Given the description of an element on the screen output the (x, y) to click on. 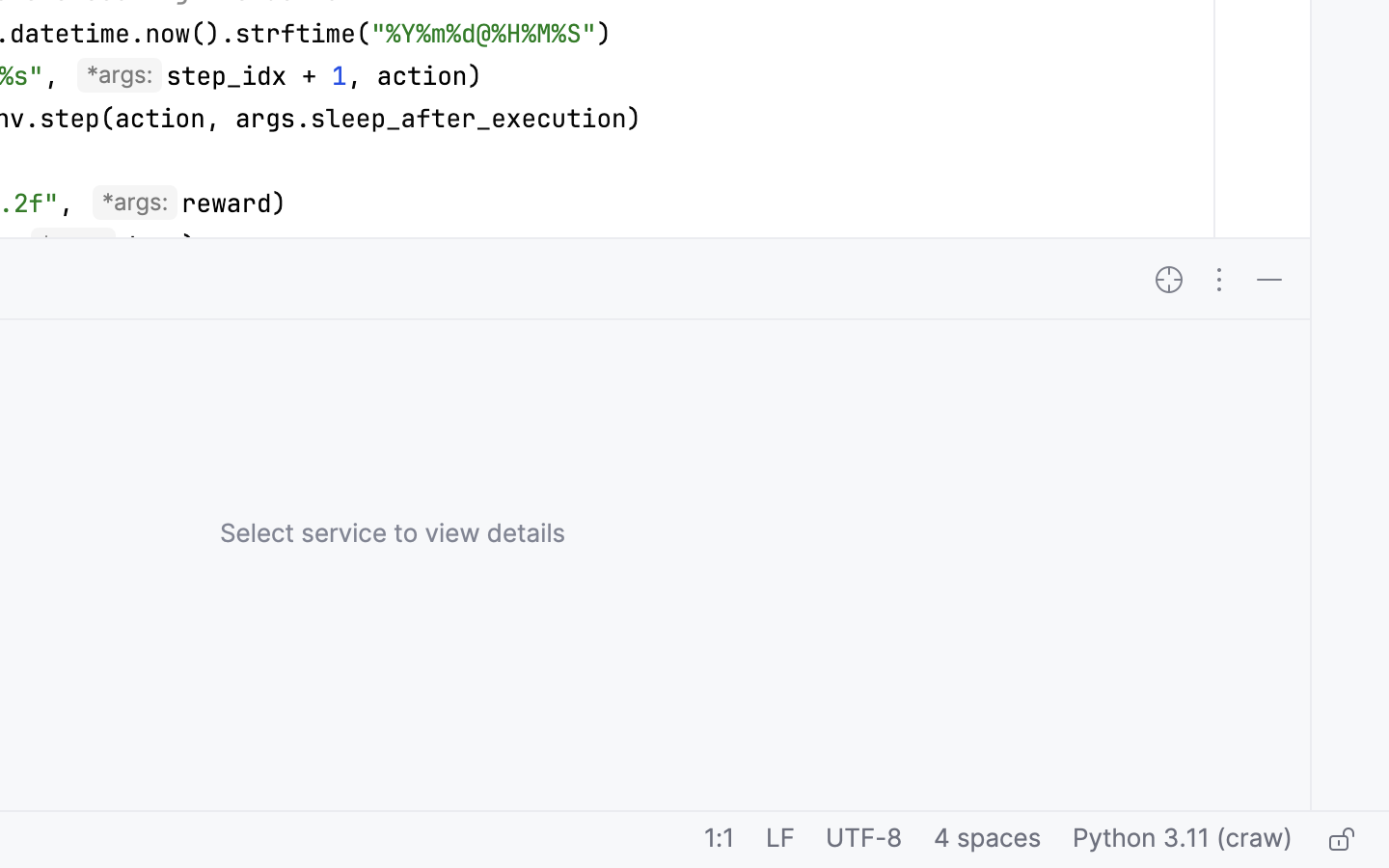
LF Element type: AXStaticText (780, 840)
Make file read-only Element type: AXStaticText (1338, 840)
Python 3.11 (craw) Element type: AXStaticText (1182, 840)
1:1 Element type: AXStaticText (719, 840)
UTF-8 Element type: AXStaticText (864, 840)
